Given the description of an element on the screen output the (x, y) to click on. 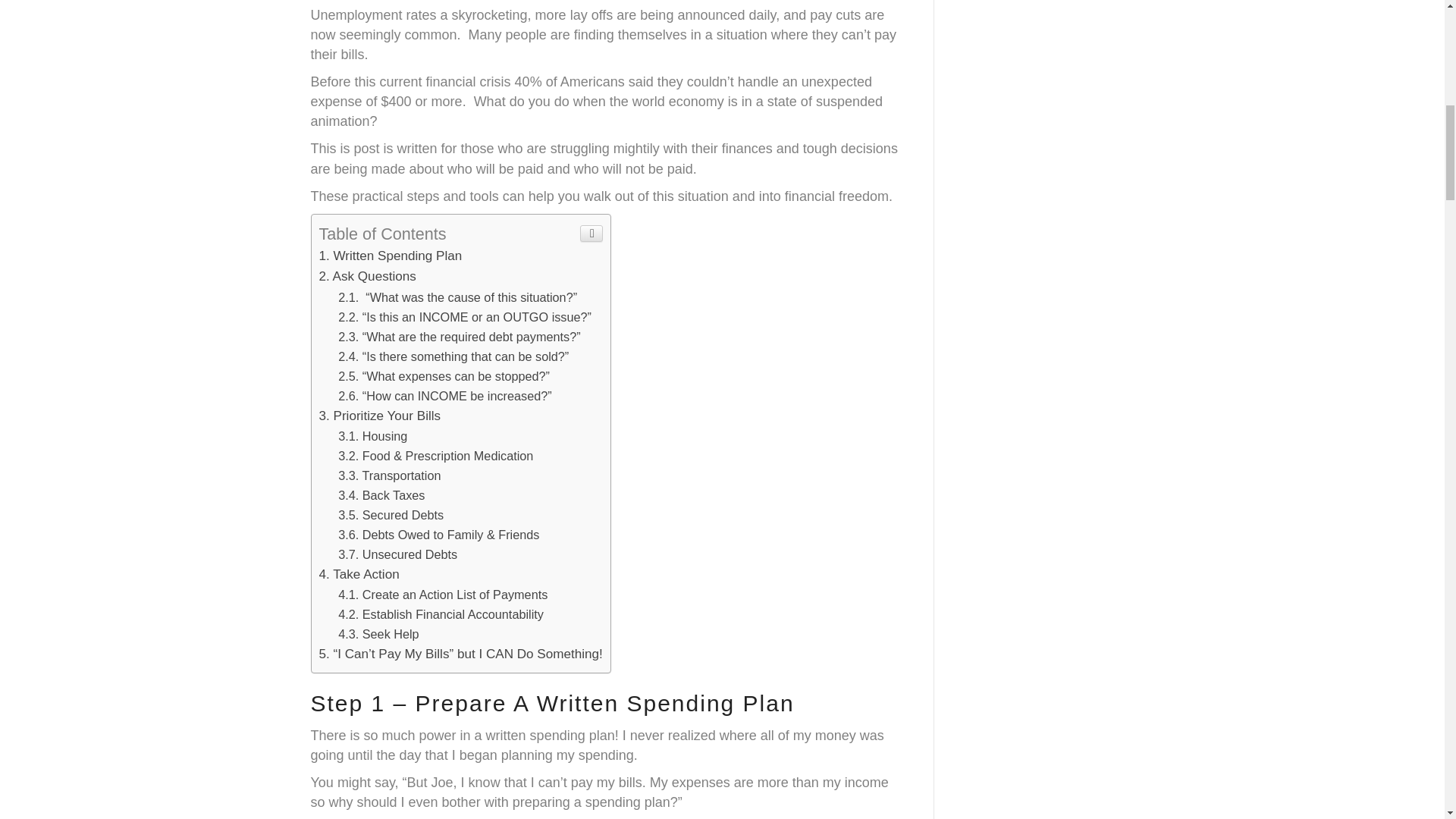
Ask Questions (366, 276)
Housing (372, 436)
Transportation (389, 475)
Establish Financial Accountability (440, 613)
Back Taxes (381, 495)
Ask Questions (366, 276)
Housing (372, 436)
Secured Debts (390, 514)
Take Action (358, 574)
Written Spending Plan (389, 255)
Seek Help (378, 633)
Unsecured Debts (397, 554)
Prioritize Your Bills (379, 415)
Create an Action List of Payments (442, 594)
Prioritize Your Bills (379, 415)
